Given the description of an element on the screen output the (x, y) to click on. 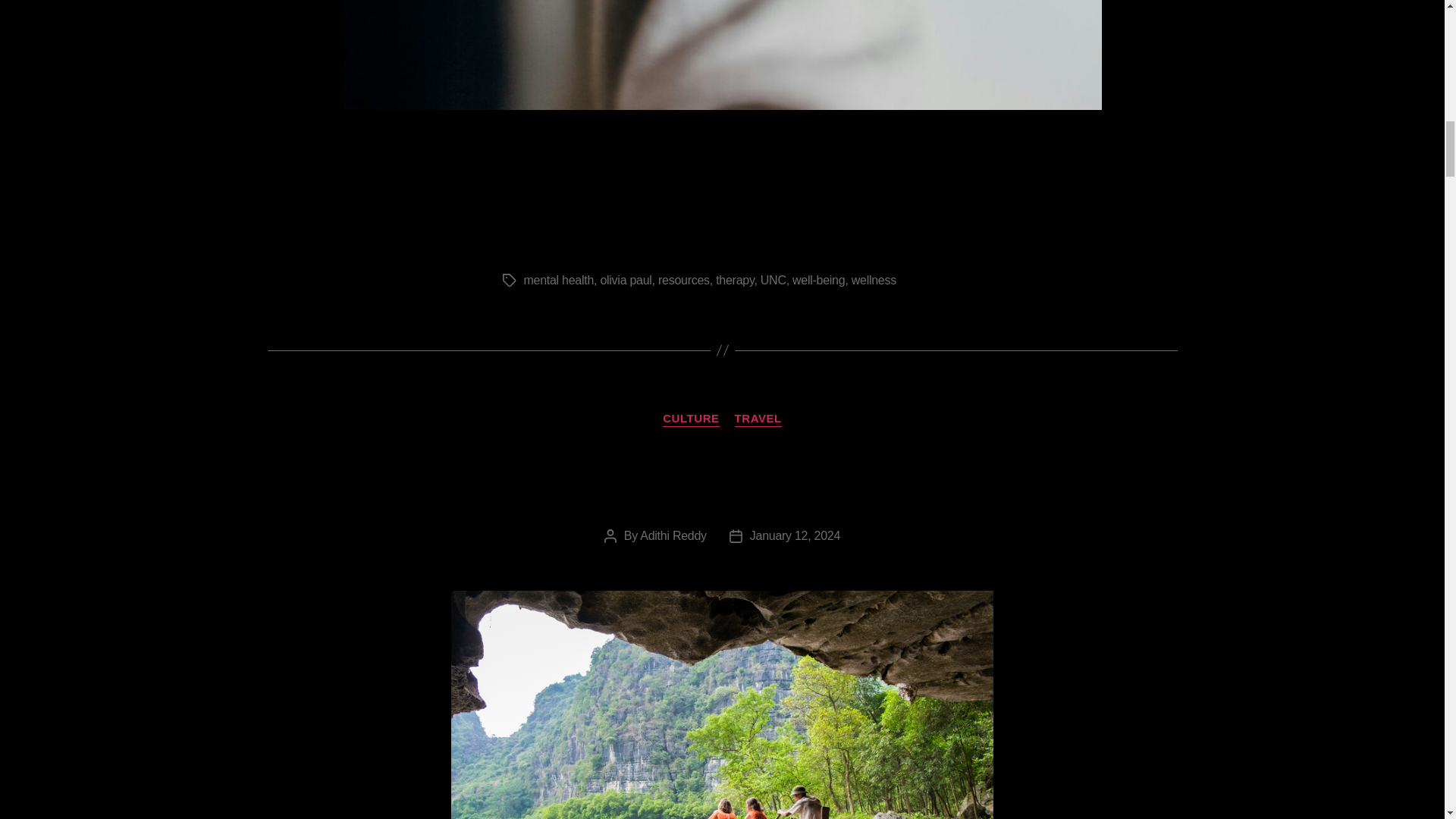
mental health (558, 279)
